Given the description of an element on the screen output the (x, y) to click on. 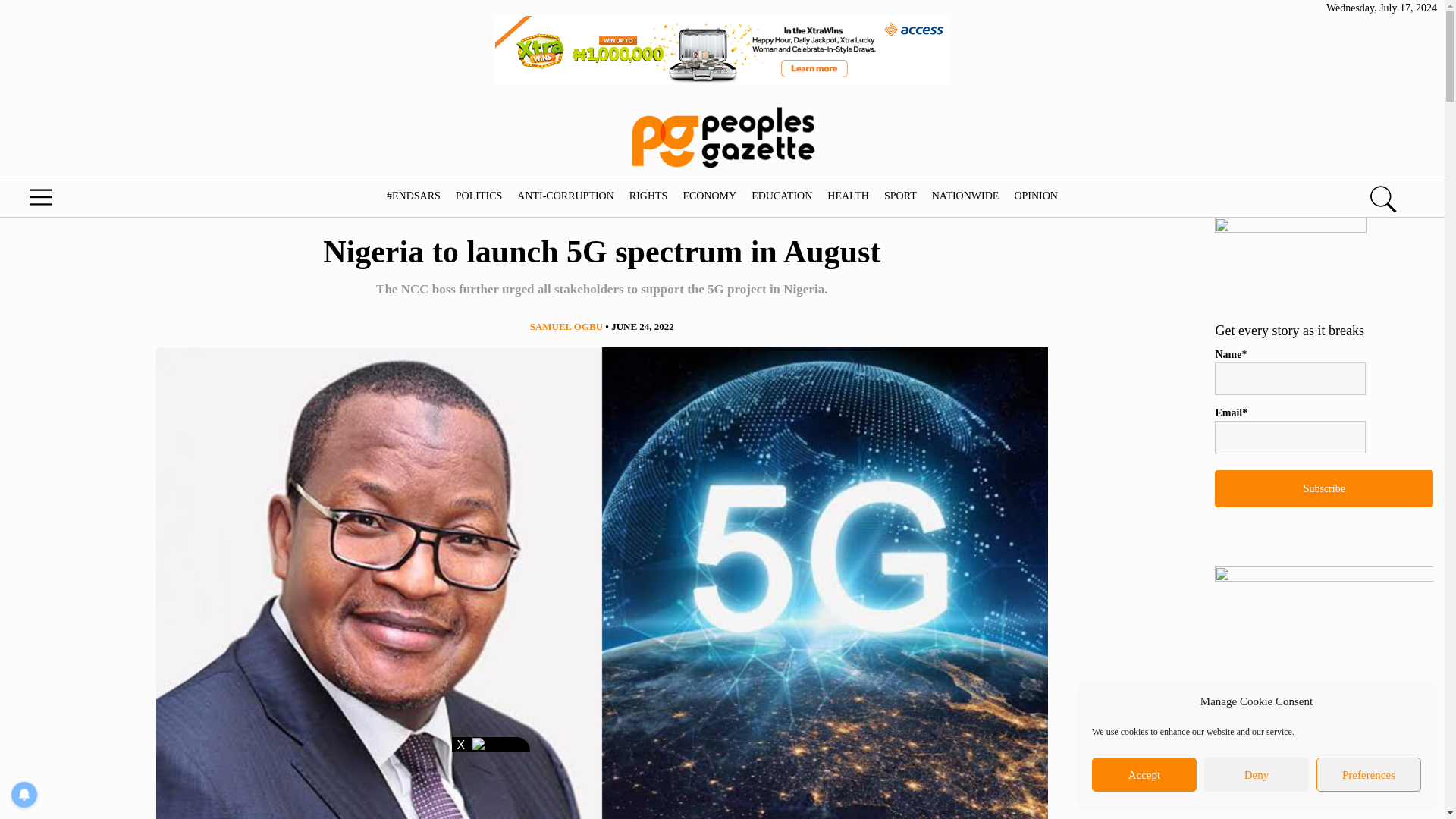
EDUCATION (781, 195)
Accept (1144, 774)
Deny (1256, 774)
HEALTH (848, 195)
POLITICS (478, 195)
Subscribe (1323, 488)
ECONOMY (708, 195)
Menu (76, 200)
NATIONWIDE (965, 195)
RIGHTS (648, 195)
Posts by Samuel Ogbu (565, 326)
Preferences (1368, 774)
ANTI-CORRUPTION (565, 195)
SPORT (900, 195)
OPINION (1035, 195)
